Given the description of an element on the screen output the (x, y) to click on. 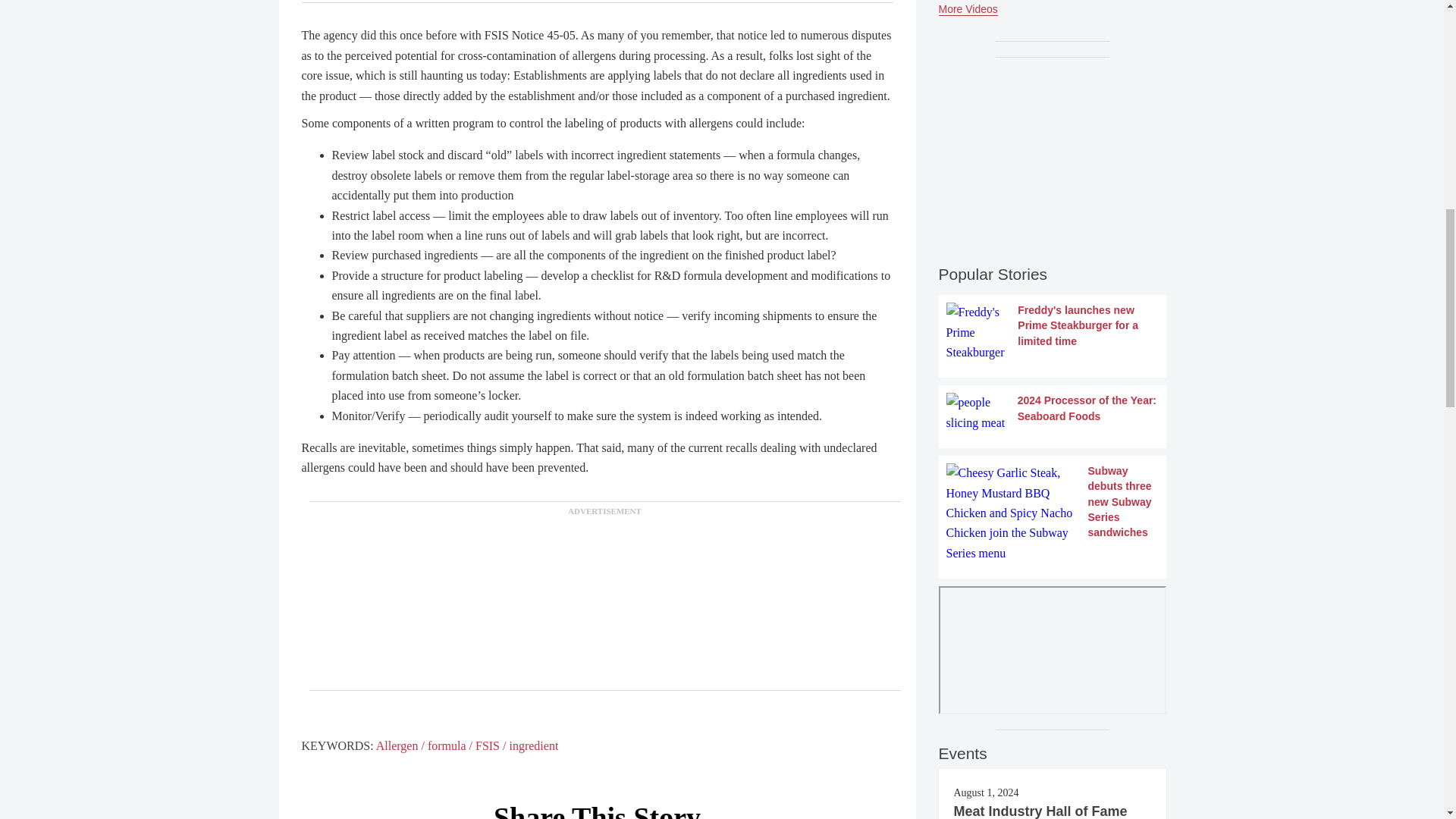
Freddy's launches new Prime Steakburger for a limited time (1052, 332)
Subway debuts three new Subway Series sandwiches (1052, 513)
Meat Industry Hall of Fame (1039, 811)
2024 Processor of the Year: Seaboard Foods (1052, 413)
